Given the description of an element on the screen output the (x, y) to click on. 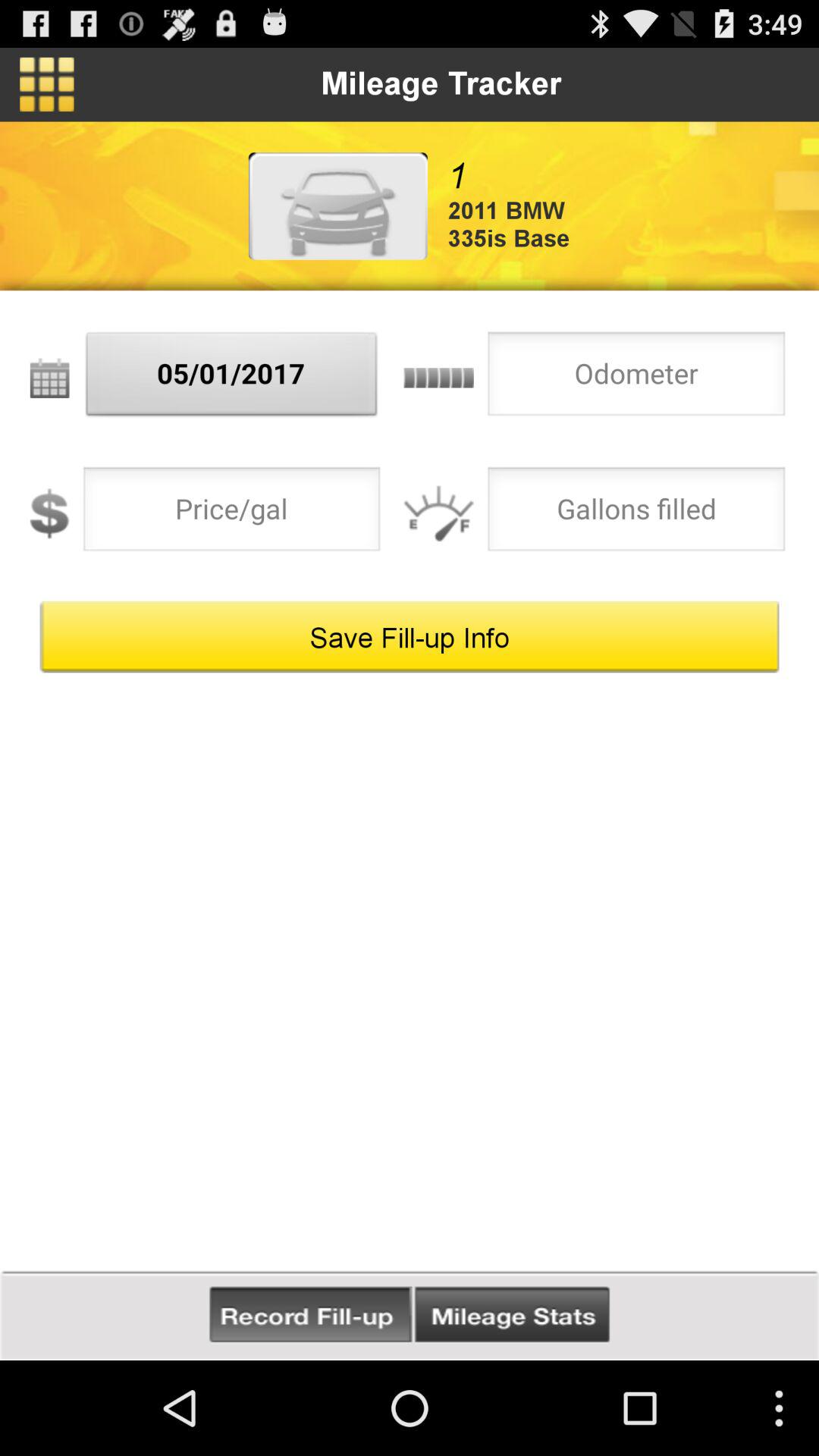
open the menu bar (46, 84)
